Given the description of an element on the screen output the (x, y) to click on. 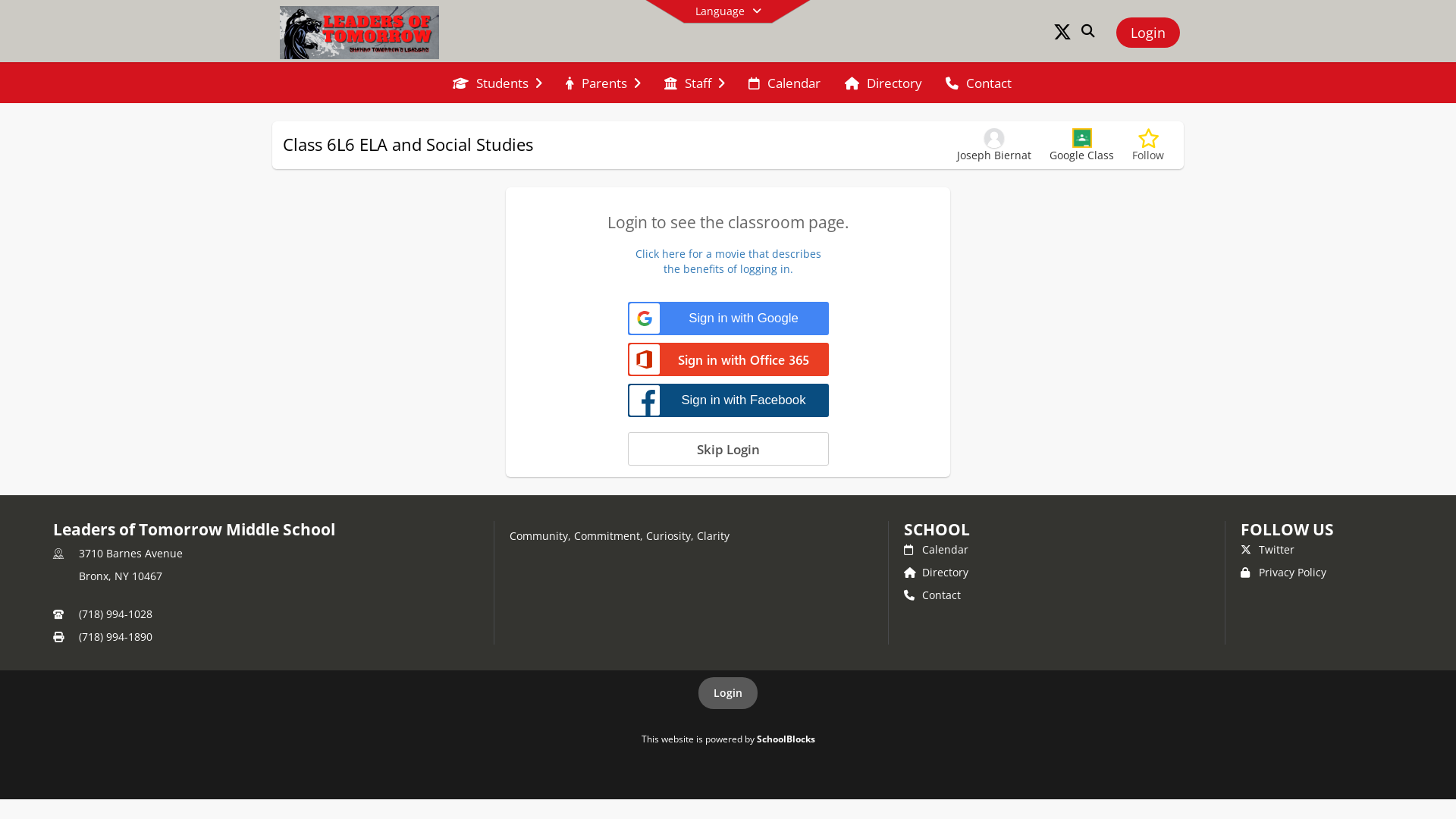
Twitter Element type: text (1267, 549)
Staff Element type: text (694, 83)
Contact Element type: text (931, 594)
SCHOOL Element type: text (936, 528)
Sign in with Facebook Element type: text (727, 399)
Sign in with Google Element type: text (727, 317)
Joseph Biernat Element type: hover (994, 137)
Follow Element type: text (1148, 145)
Calendar Element type: text (935, 549)
SchoolBlocks Element type: text (785, 738)
Students Element type: text (497, 83)
Google Class Element type: text (1081, 145)
Language Element type: text (727, 11)
(718) 994-1028 Element type: text (115, 613)
Skip Login Element type: text (727, 448)
Calendar Element type: text (784, 83)
Primary Phone Number Element type: hover (58, 613)
Privacy Policy Element type: text (1283, 571)
Contact Element type: text (978, 83)
Fax Element type: hover (58, 636)
Login Element type: text (1147, 32)
Leaders of Tomorrow Middle School Element type: hover (359, 31)
Parents Element type: text (602, 83)
Joseph Biernat Element type: text (994, 145)
Directory Element type: text (883, 83)
Sign in with Office 365 Element type: text (727, 360)
Login Element type: text (727, 693)
Directory Element type: text (935, 571)
